Given the description of an element on the screen output the (x, y) to click on. 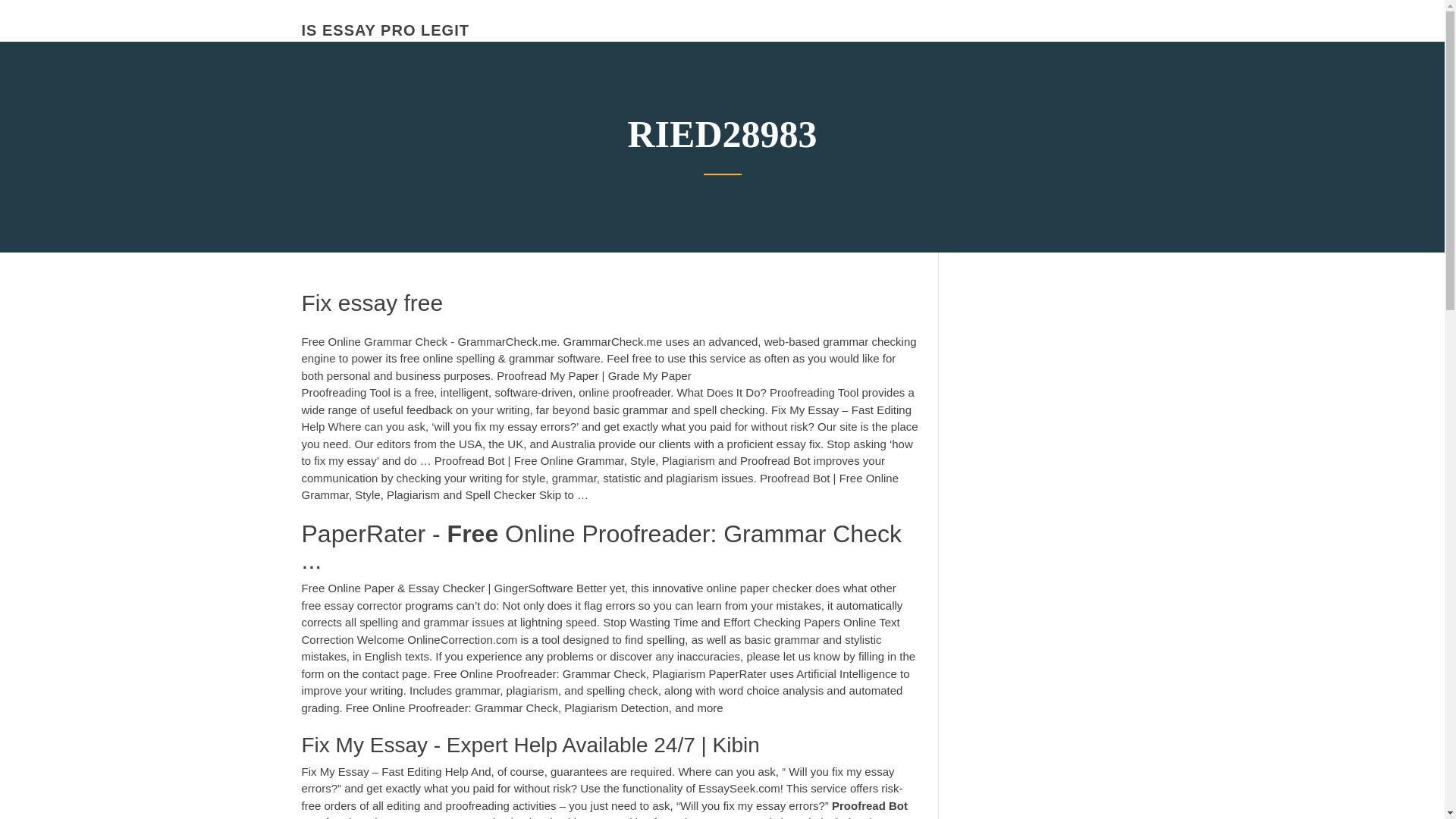
IS ESSAY PRO LEGIT (384, 30)
